Given the description of an element on the screen output the (x, y) to click on. 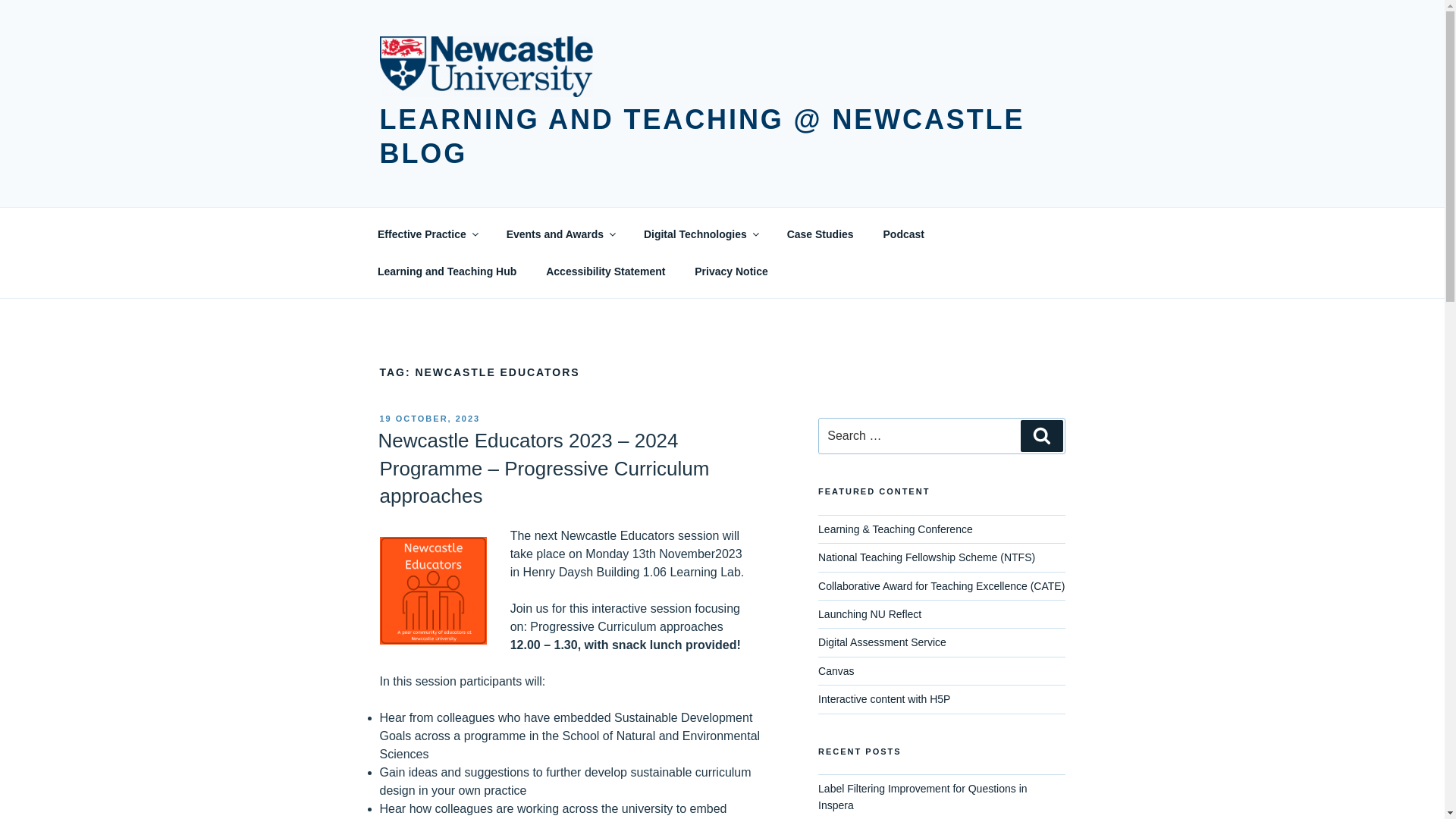
Learning and Teaching Hub (446, 271)
Digital Technologies (700, 233)
Podcast (903, 233)
Case Studies (819, 233)
Privacy Notice (731, 271)
Effective Practice (426, 233)
Accessibility Statement (605, 271)
Events and Awards (560, 233)
